Given the description of an element on the screen output the (x, y) to click on. 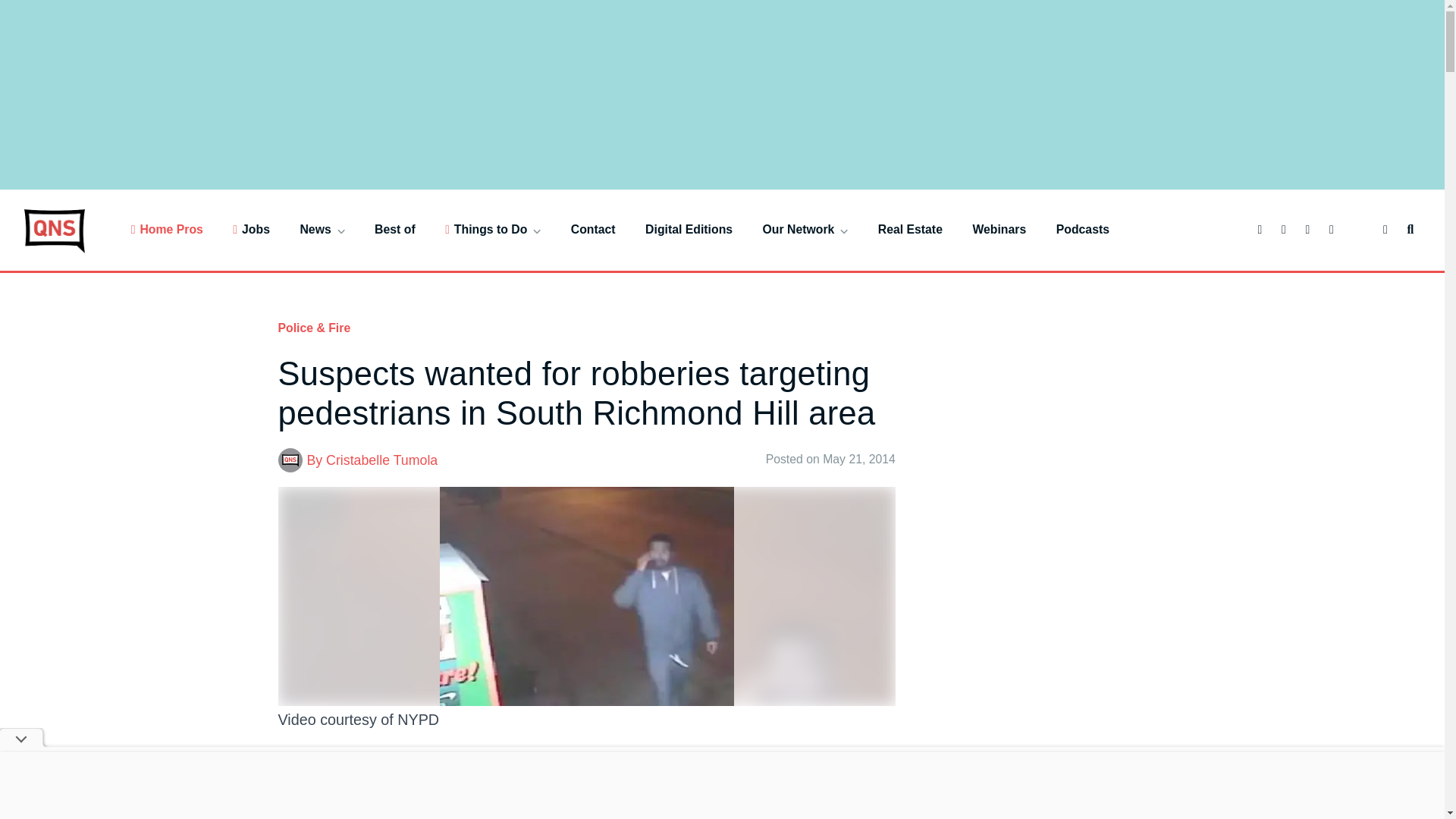
Posts by Cristabelle Tumola (382, 459)
Contact (592, 228)
Our Network (805, 228)
Webinars (999, 228)
Facebook (292, 813)
Best of (394, 228)
Jobs (250, 228)
Digital Editions (688, 228)
Twitter (322, 813)
Real Estate (909, 228)
News (321, 228)
Podcasts (1083, 228)
Home Pros (167, 228)
Things to Do (492, 228)
